Given the description of an element on the screen output the (x, y) to click on. 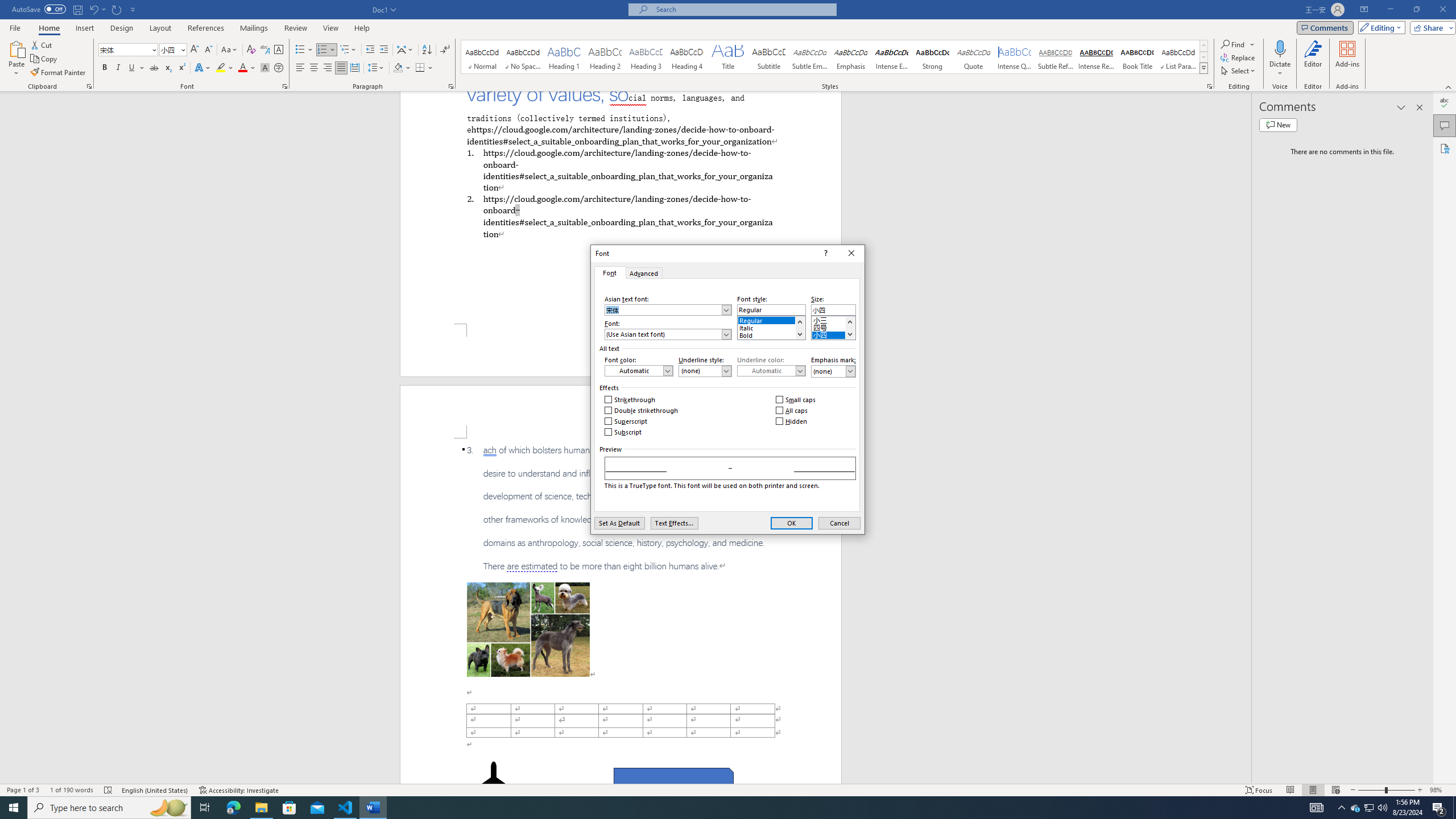
Ribbon Display Options (1364, 9)
Visual Studio Code - 1 running window (345, 807)
Undo Apply Quick Style (92, 9)
Distributed (354, 67)
Intense Quote (1014, 56)
Start (13, 807)
Bullets (300, 49)
Quote (973, 56)
Shading (402, 67)
Line and Paragraph Spacing (376, 67)
Font Color Automatic (241, 67)
Heading 3 (646, 56)
